Given the description of an element on the screen output the (x, y) to click on. 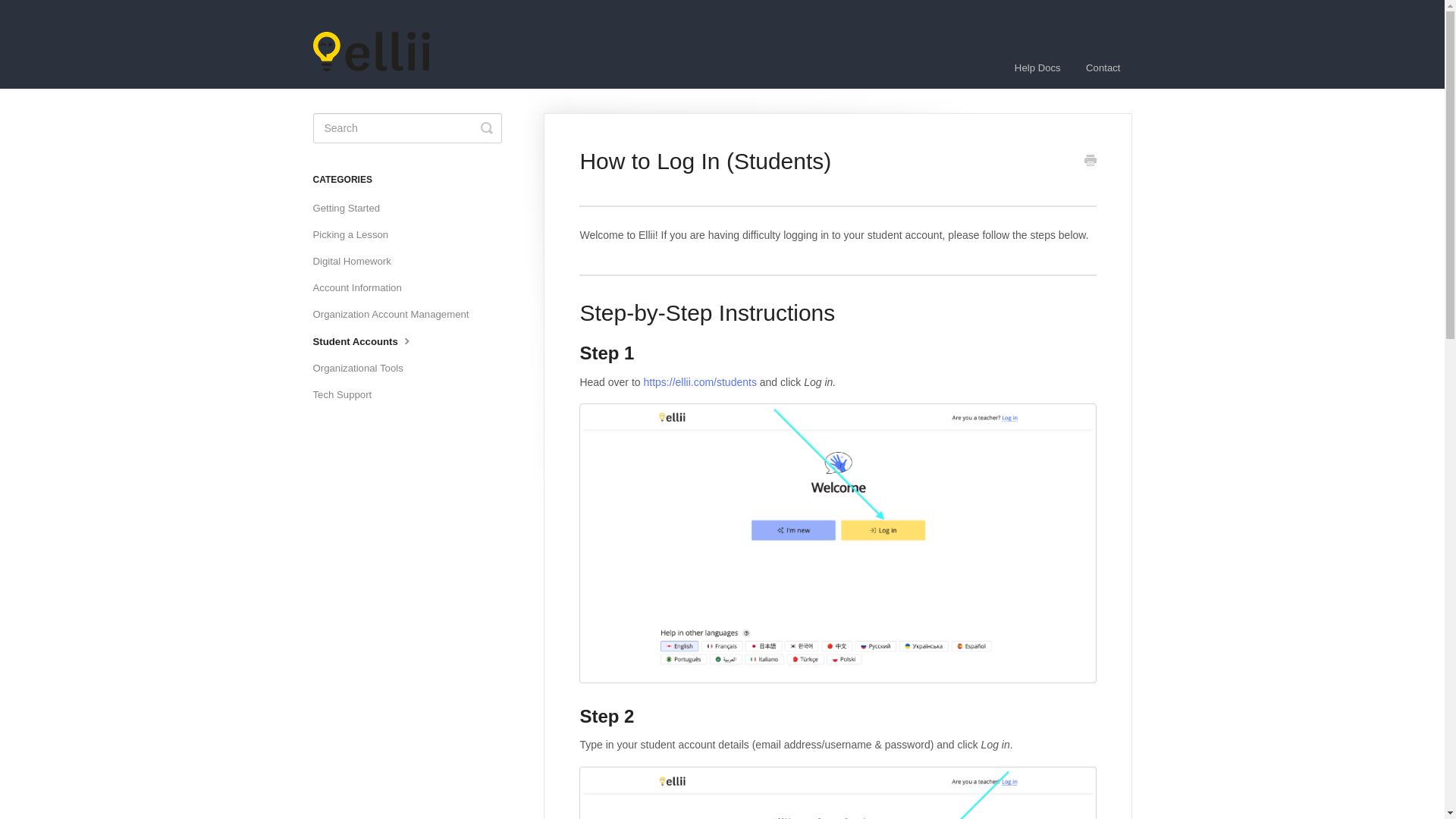
Tech Support (347, 395)
Digital Homework (357, 261)
search-query (406, 128)
Organizational Tools (363, 368)
Getting Started (352, 208)
Picking a Lesson (355, 234)
Account Information (362, 288)
Student Accounts (369, 341)
Contact (1102, 67)
Organization Account Management (396, 314)
Help Docs (1037, 67)
